Given the description of an element on the screen output the (x, y) to click on. 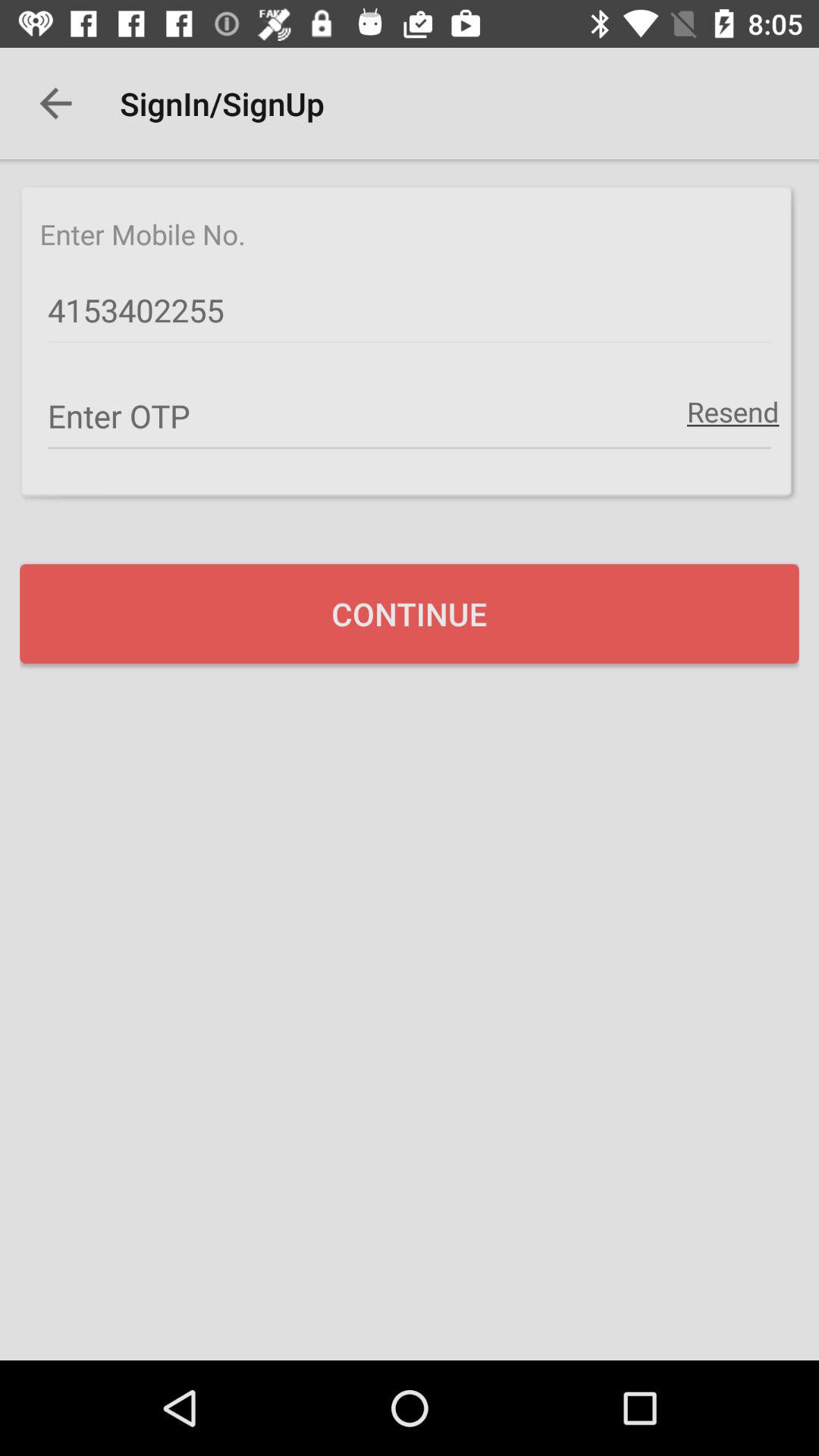
select item above continue item (733, 411)
